Given the description of an element on the screen output the (x, y) to click on. 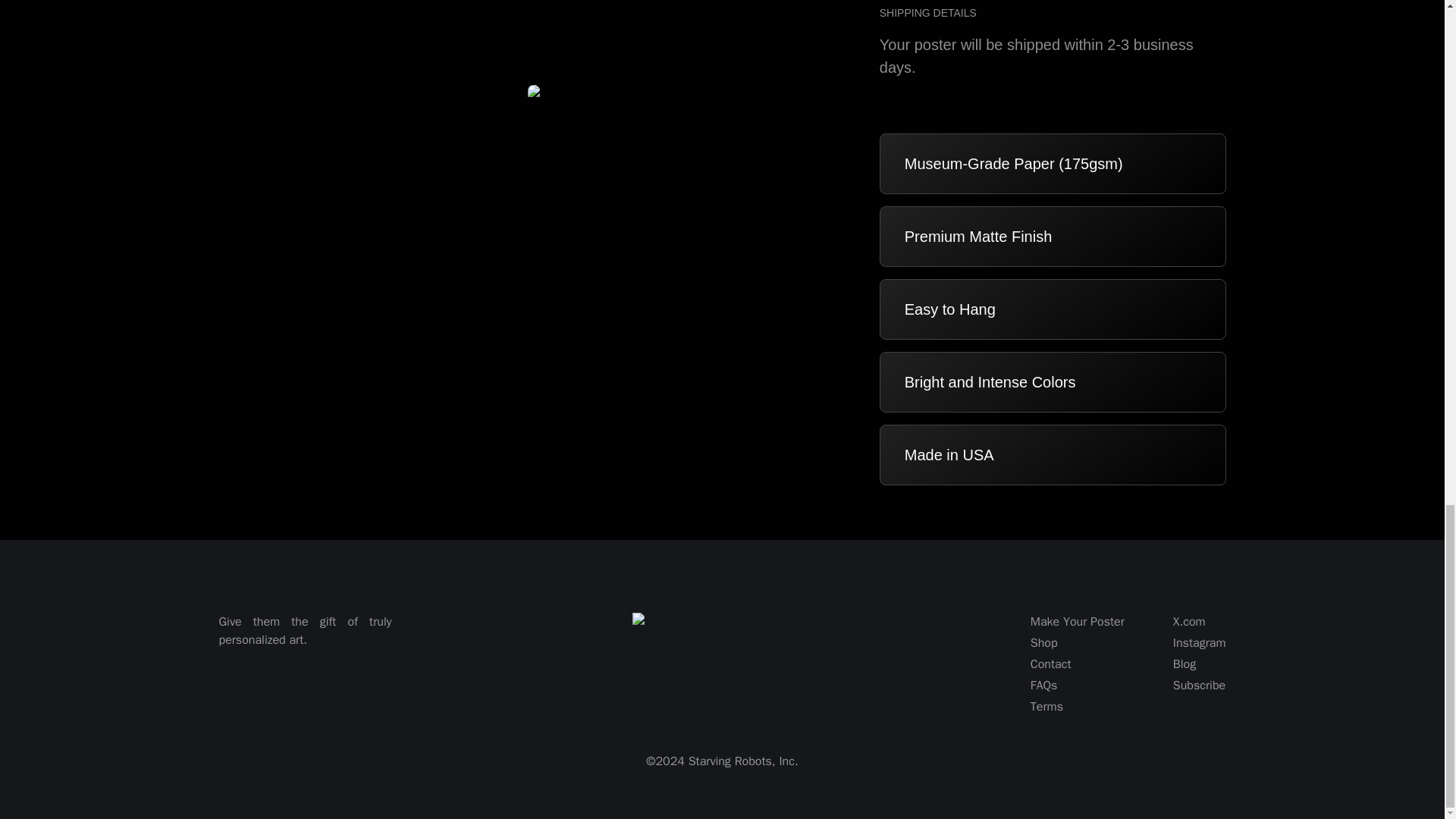
FAQs (1077, 685)
Contact (1077, 664)
Make Your Poster (1077, 621)
Terms (1077, 706)
Instagram (1199, 642)
Shop (1077, 642)
Subscribe (1199, 685)
X.com (1199, 621)
Blog (1199, 664)
